Given the description of an element on the screen output the (x, y) to click on. 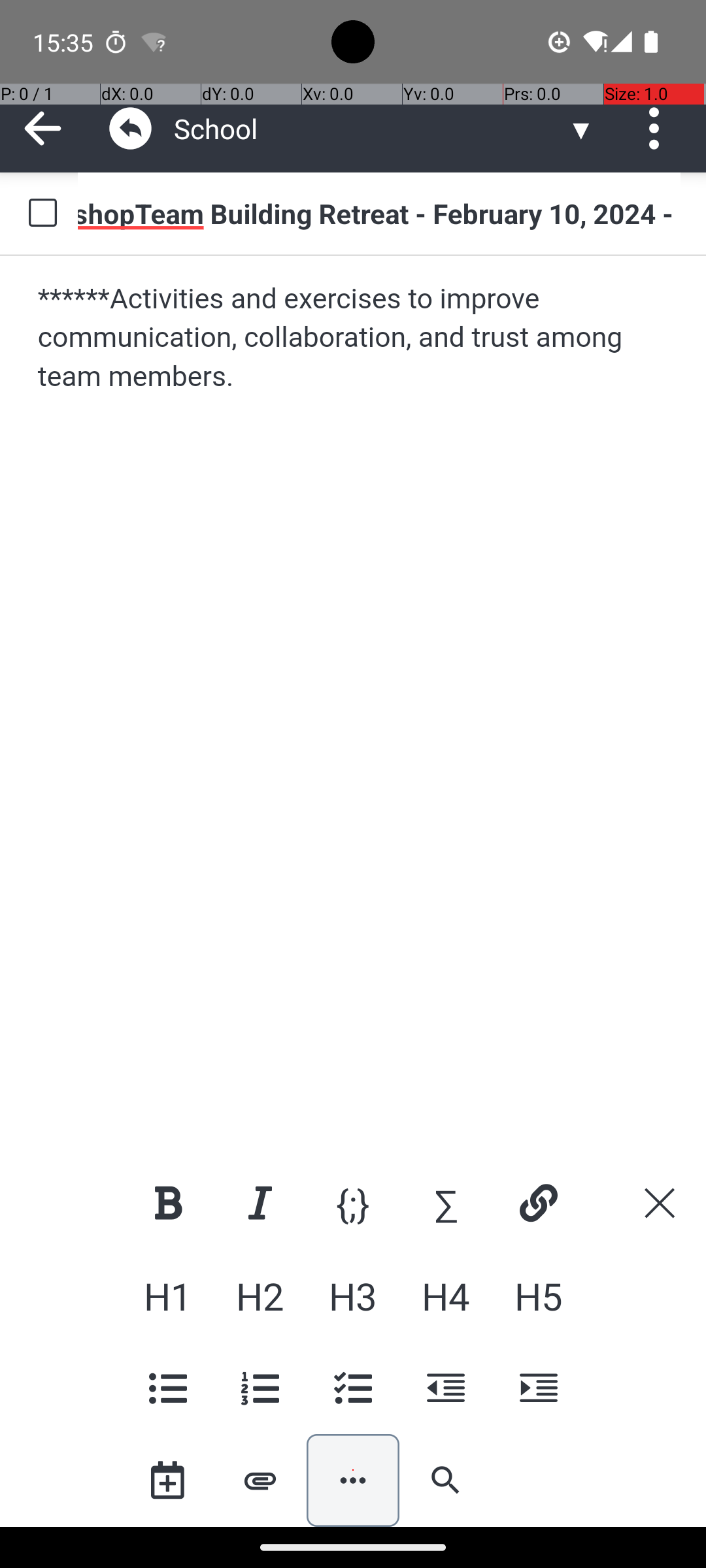
Team Building WorkshopTeam Building Retreat - February 10, 2024 - January 17, 2024 Element type: android.widget.EditText (378, 213)
KaTeX Element type: android.widget.Button (445, 1202)
Header 1 Element type: android.widget.Button (167, 1295)
Header 2 Element type: android.widget.Button (259, 1295)
Header 3 Element type: android.widget.Button (352, 1295)
Header 4 Element type: android.widget.Button (445, 1295)
Header 5 Element type: android.widget.Button (538, 1295)
Decrease indent level Element type: android.widget.Button (445, 1387)
Increase indent level Element type: android.widget.Button (538, 1387)
Insert time Element type: android.widget.Button (167, 1480)
Hide more actions Element type: android.widget.Button (352, 1480)
******Activities and exercises to improve communication, collaboration, and trust among team members. Element type: android.widget.EditText (354, 338)
